Given the description of an element on the screen output the (x, y) to click on. 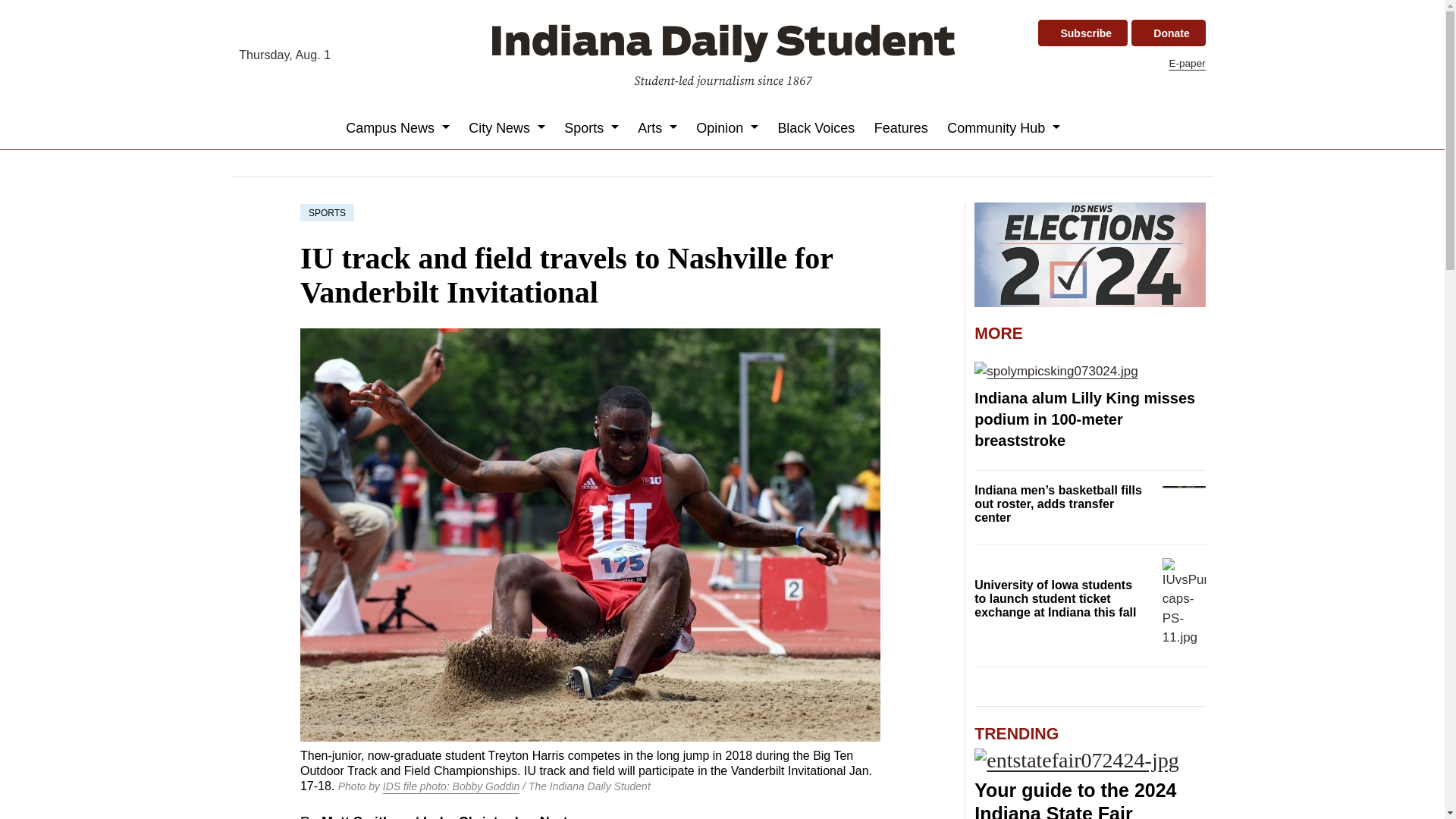
E-paper (1187, 62)
Donate (1168, 32)
Features (900, 127)
Your guide to the 2024 Indiana State Fair (1089, 760)
Sports (591, 127)
City News (507, 127)
Arts (657, 127)
Black Voices (816, 127)
Subscribe (1082, 32)
Your guide to the 2024 Indiana State Fair (1075, 799)
Campus News (398, 127)
